Given the description of an element on the screen output the (x, y) to click on. 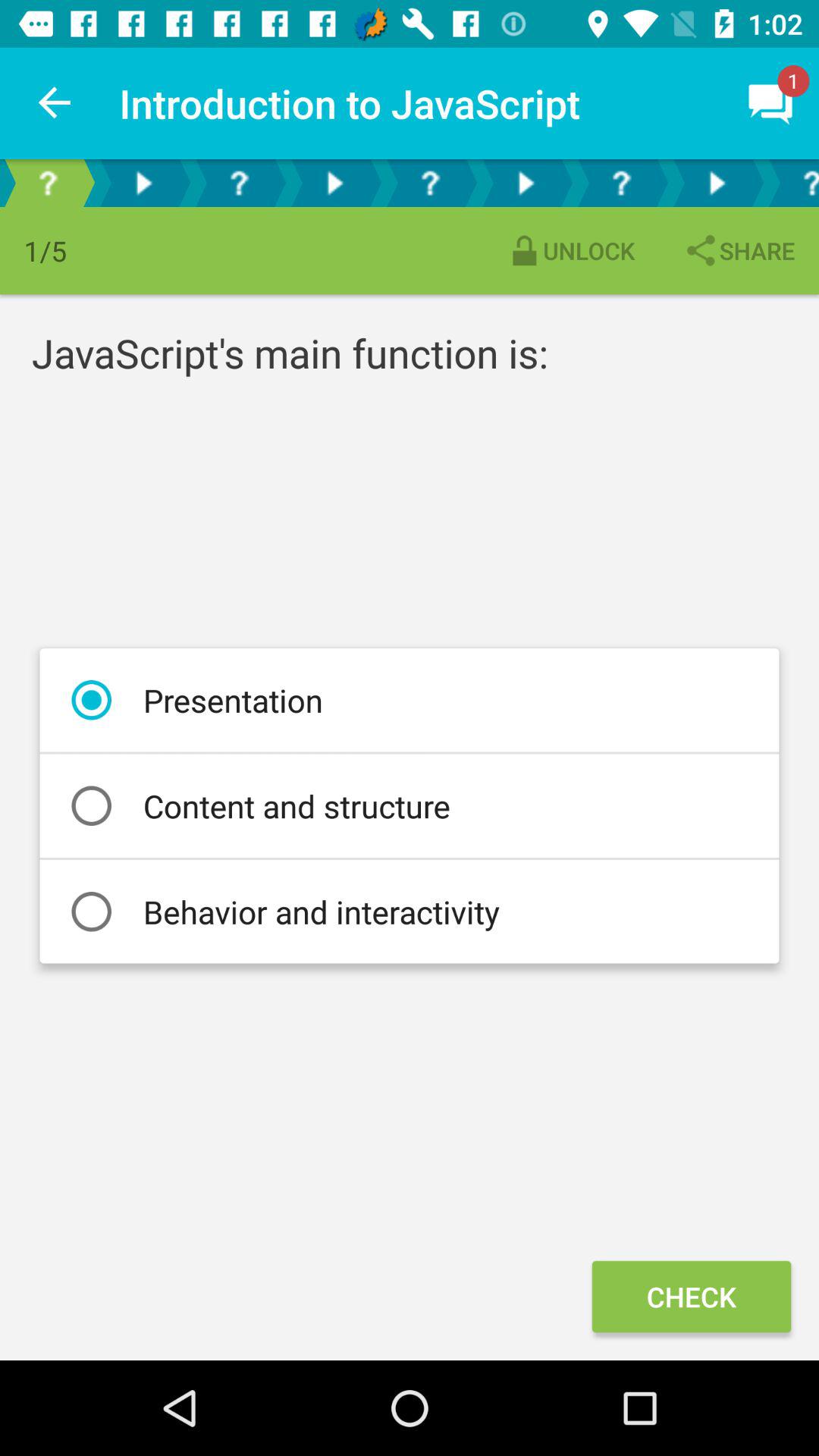
next question (429, 183)
